Given the description of an element on the screen output the (x, y) to click on. 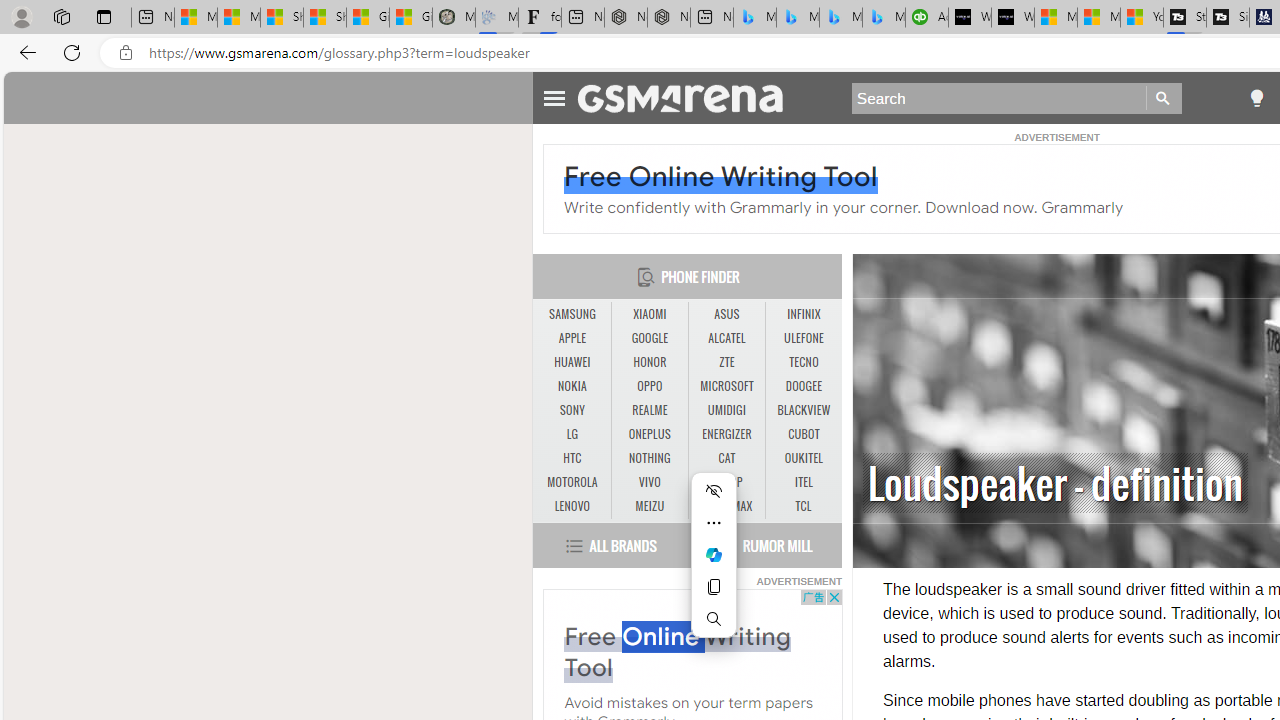
ITEL (803, 483)
ALCATEL (726, 338)
ULEFONE (803, 339)
XIAOMI (649, 314)
UMIDIGI (726, 411)
TCL (803, 506)
Gilma and Hector both pose tropical trouble for Hawaii (411, 17)
OUKITEL (803, 457)
Hide menu (714, 490)
HONOR (649, 362)
